Given the description of an element on the screen output the (x, y) to click on. 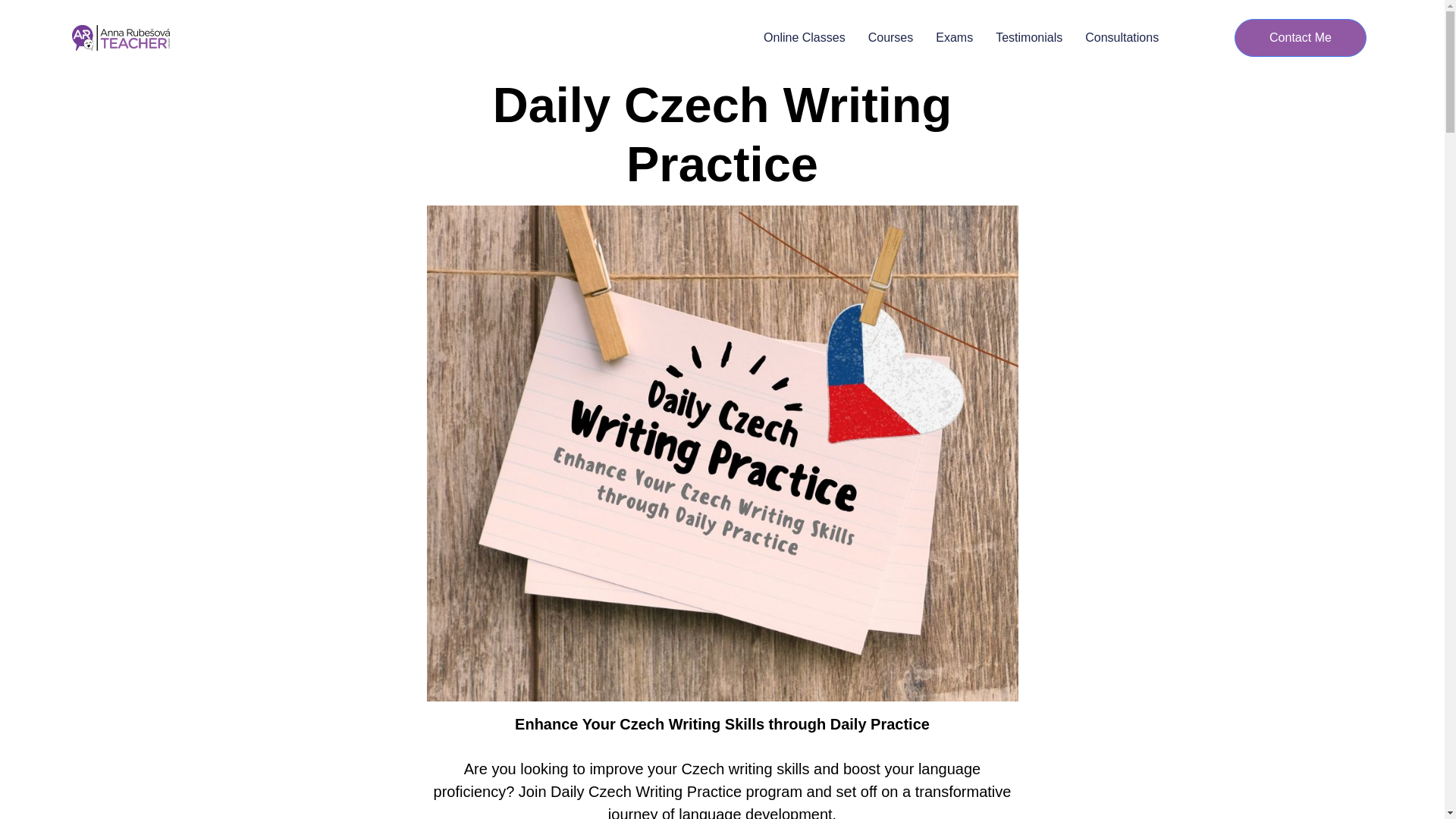
Exams (954, 37)
Contact Me (1300, 37)
Testimonials (1028, 37)
Courses (890, 37)
Consultations (1121, 37)
Online Classes (803, 37)
